Given the description of an element on the screen output the (x, y) to click on. 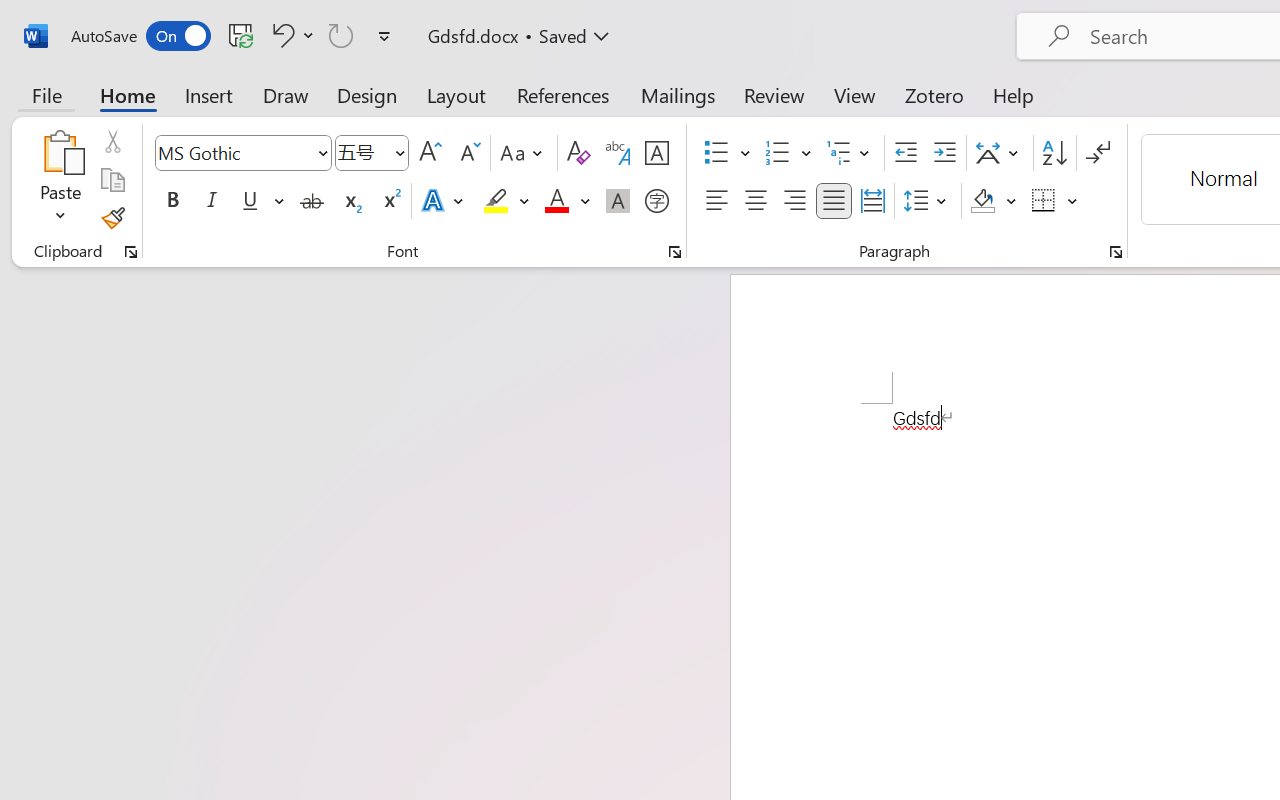
Activate Product (676, 295)
Publisher (869, 351)
Export (69, 530)
